Given the description of an element on the screen output the (x, y) to click on. 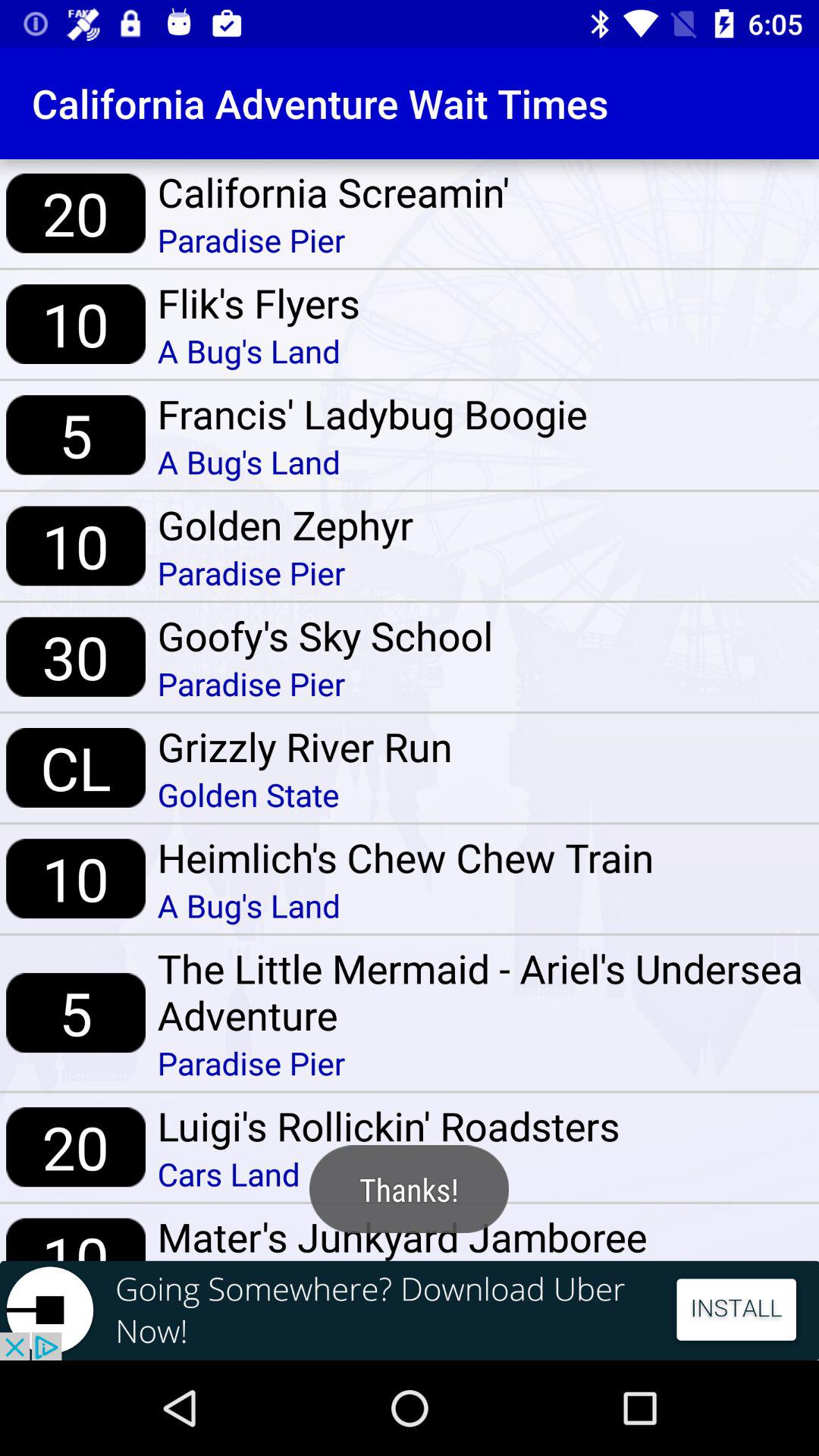
launch the item above paradise pier (481, 991)
